Given the description of an element on the screen output the (x, y) to click on. 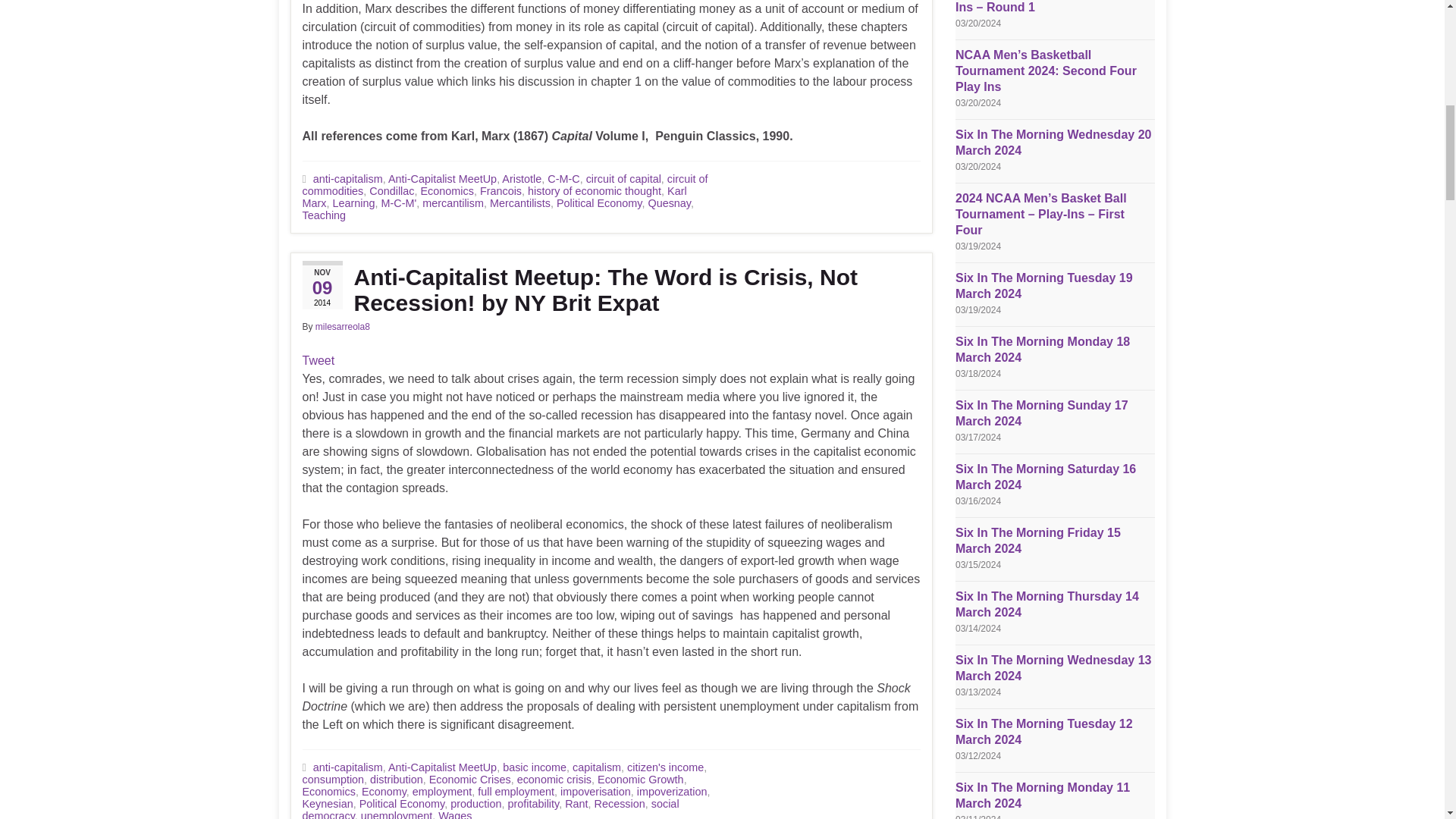
Anti-Capitalist MeetUp (442, 767)
Teaching (323, 215)
history of economic thought (594, 191)
Mercantilists (519, 203)
Condillac (391, 191)
C-M-C (563, 178)
Economic Crises (470, 779)
milesarreola8 (342, 326)
circuit of capital (623, 178)
Aristotle (521, 178)
consumption (332, 779)
Political Economy (599, 203)
Tweet (317, 359)
M-C-M' (398, 203)
